Given the description of an element on the screen output the (x, y) to click on. 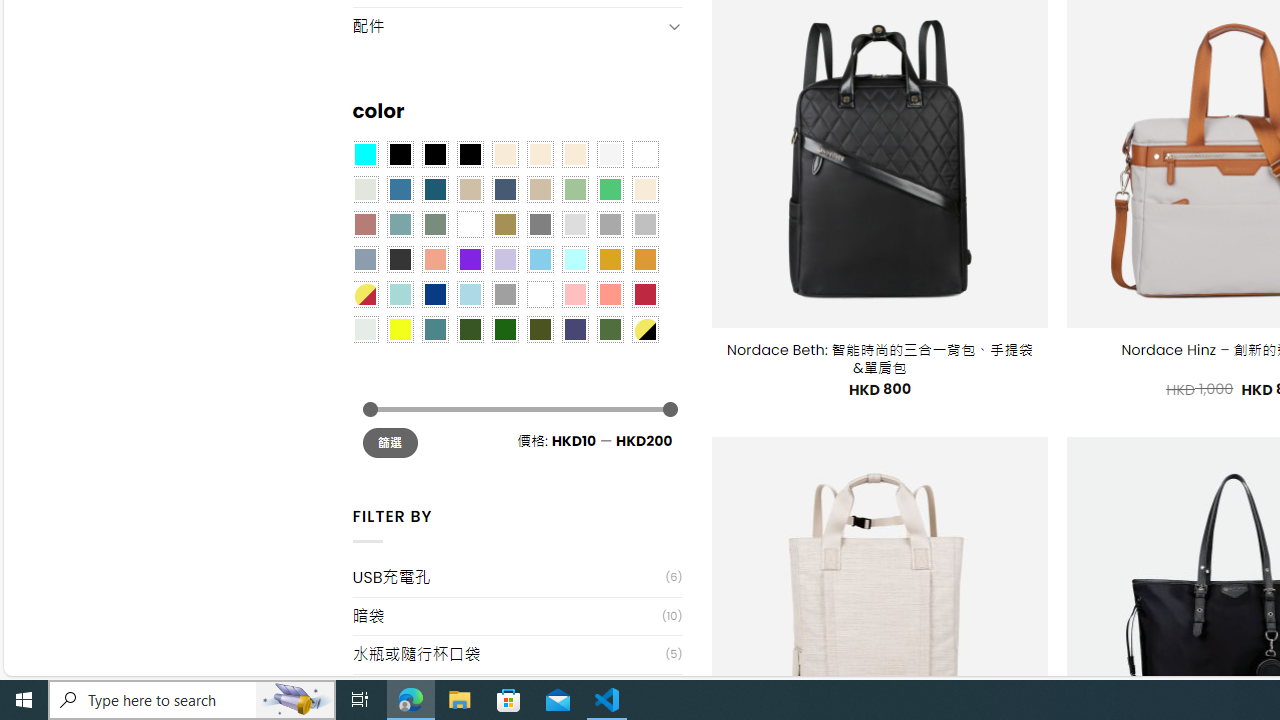
Cream (574, 154)
